Given the description of an element on the screen output the (x, y) to click on. 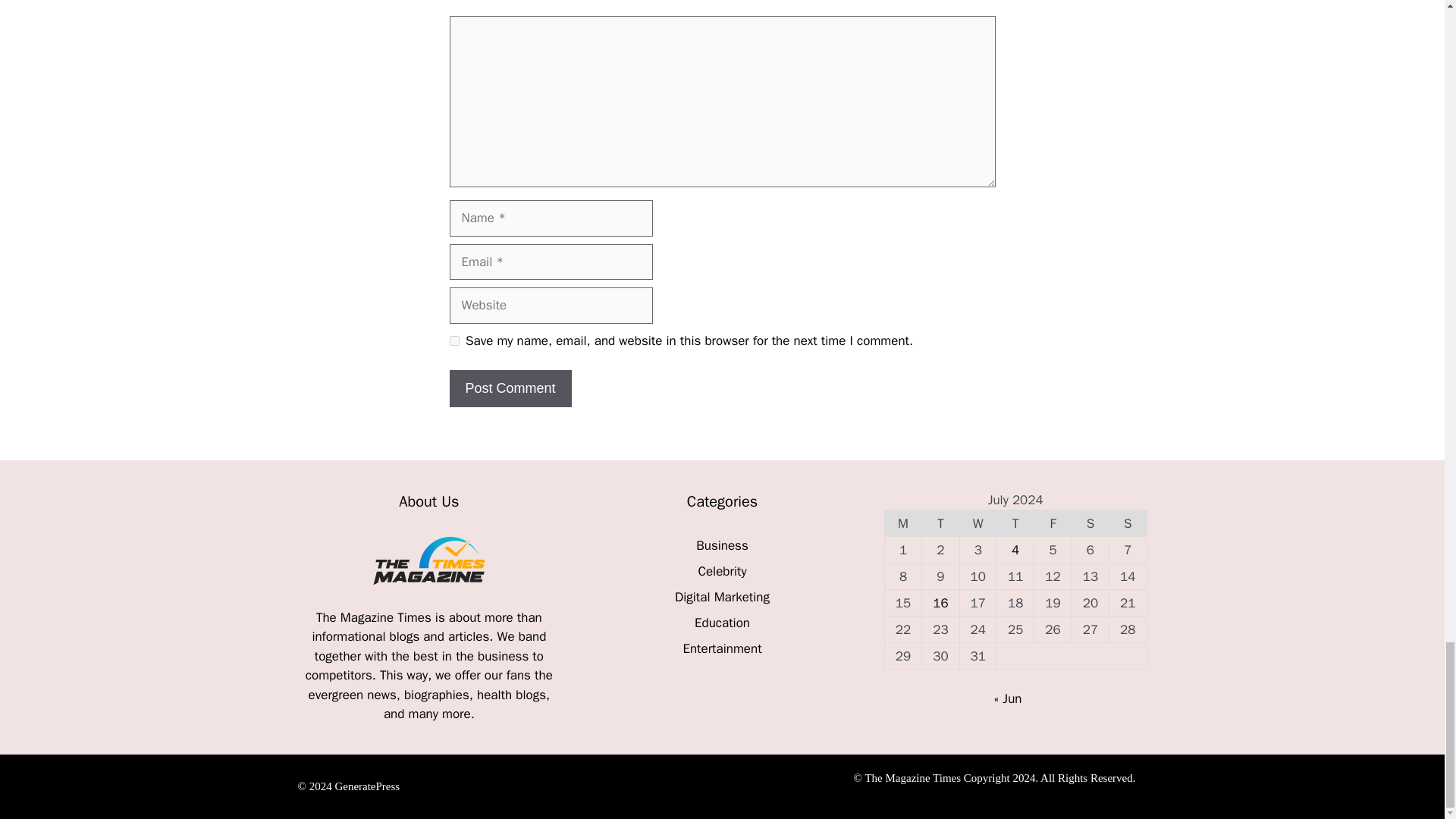
Tuesday (940, 523)
Saturday (1089, 523)
Business (721, 545)
Monday (902, 523)
Friday (1052, 523)
The Magazine Times  (375, 617)
Thursday (1014, 523)
Wednesday (977, 523)
Sunday (1128, 523)
Post Comment (509, 388)
yes (453, 340)
Post Comment (509, 388)
